Given the description of an element on the screen output the (x, y) to click on. 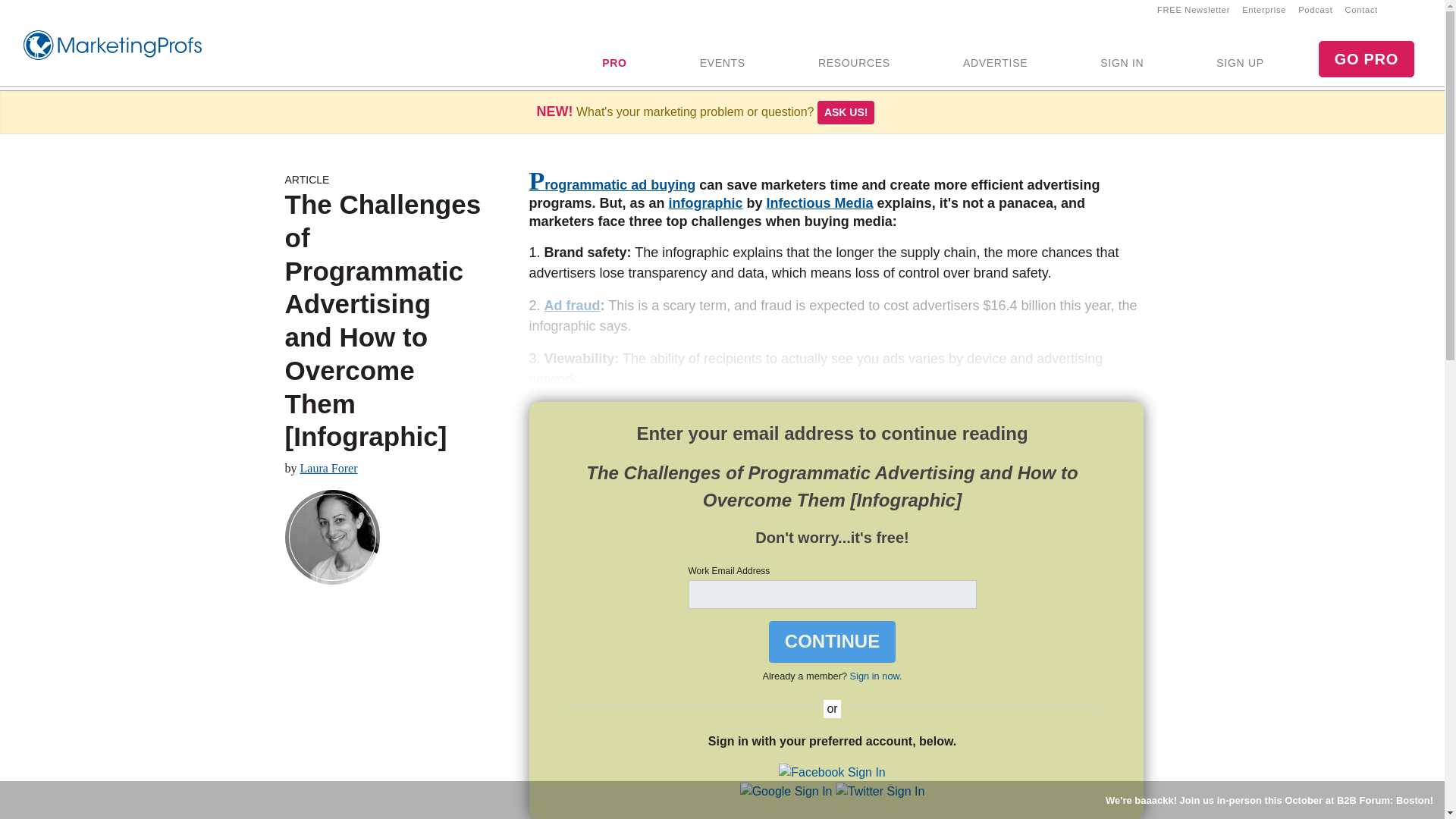
Contact (1361, 9)
RESOURCES (853, 62)
PRO (614, 62)
Podcast (1315, 9)
Enterprise (1264, 9)
FREE Newsletter (1193, 9)
EVENTS (721, 62)
